Given the description of an element on the screen output the (x, y) to click on. 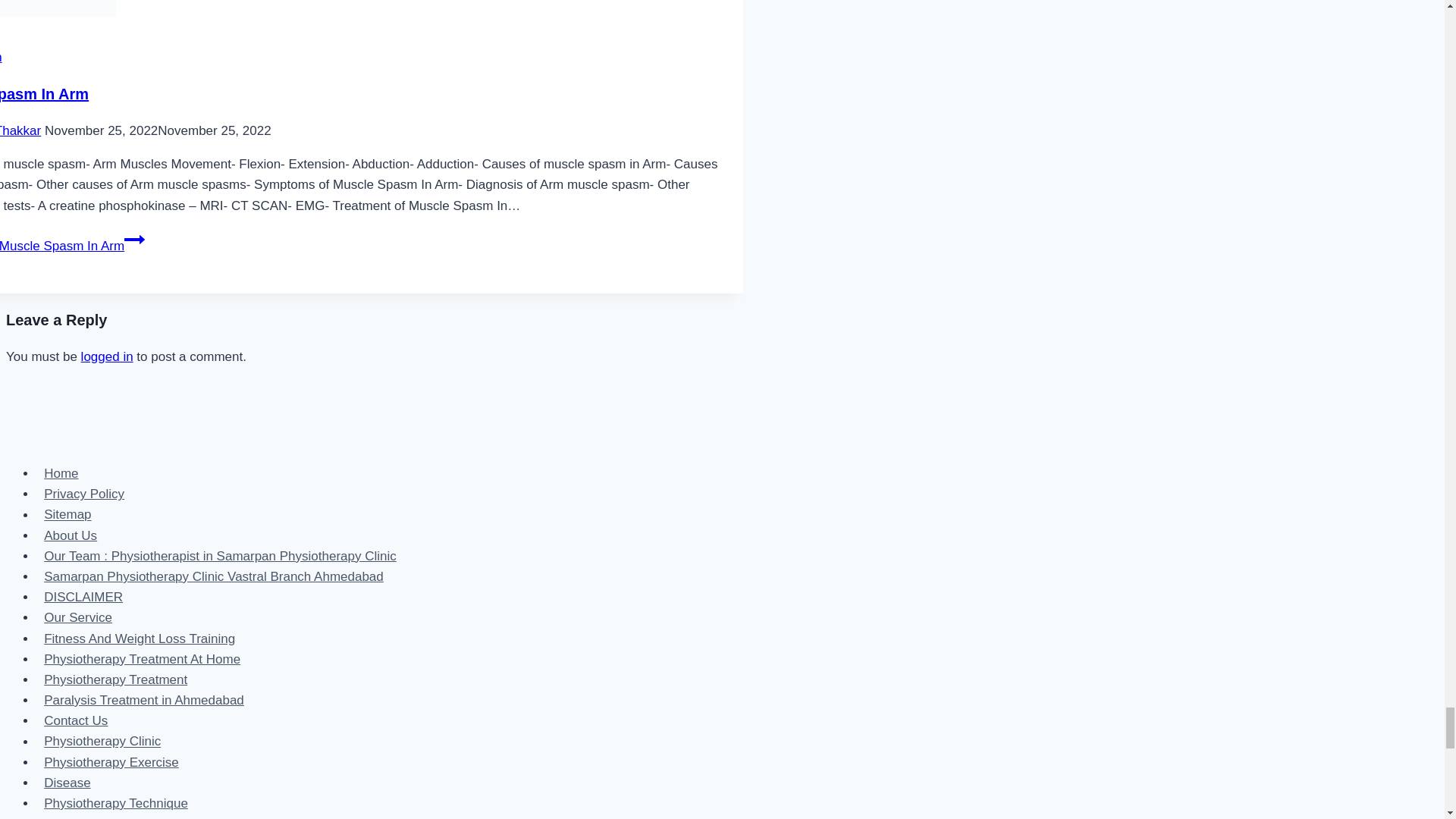
Continue (133, 239)
